Given the description of an element on the screen output the (x, y) to click on. 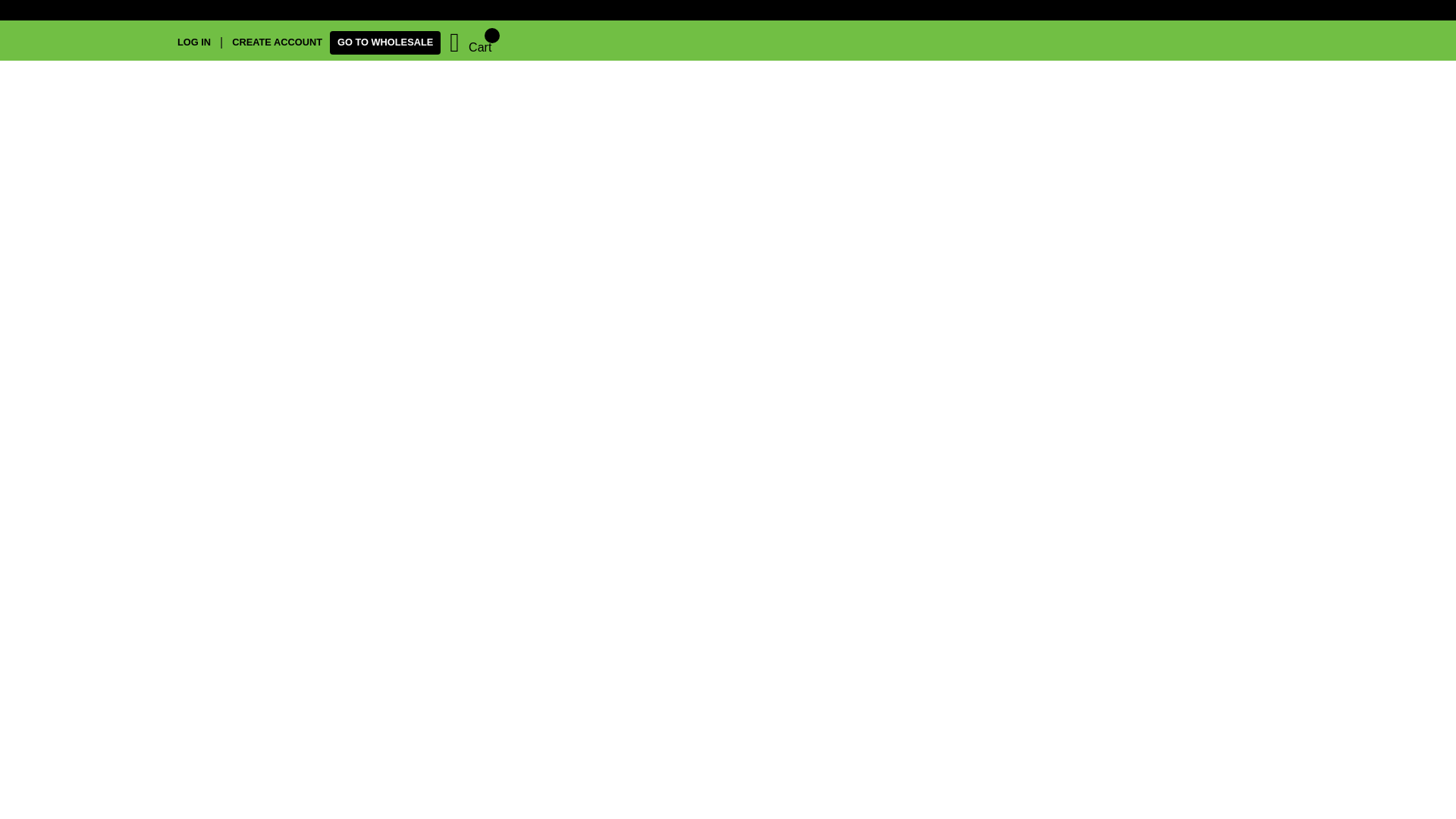
Cart (470, 42)
Cart (470, 42)
CREATE ACCOUNT (276, 42)
GO TO WHOLESALE (385, 42)
LOG IN (198, 42)
